Given the description of an element on the screen output the (x, y) to click on. 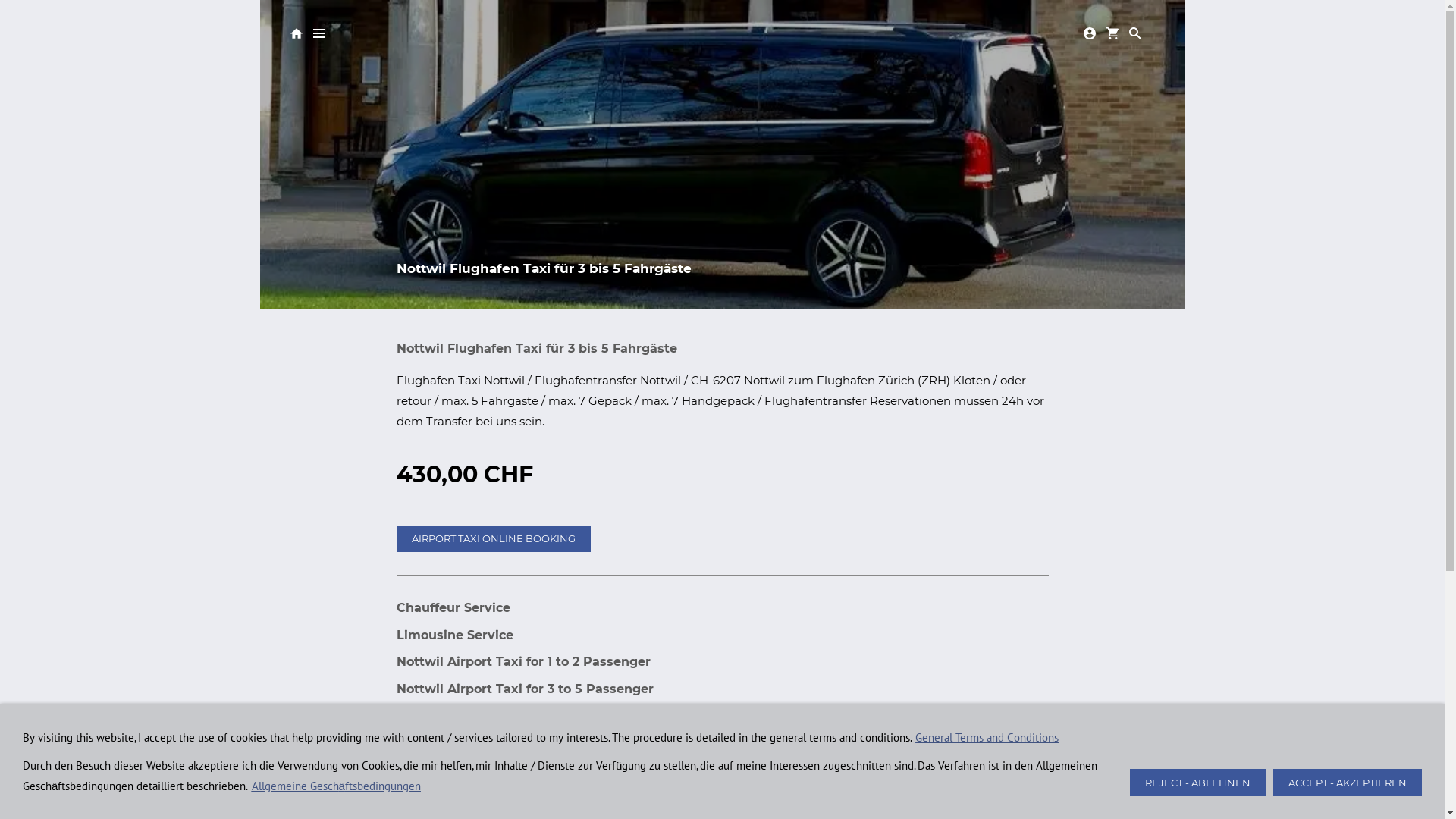
General Terms and Conditions Element type: text (986, 737)
Limousine Service Element type: text (453, 634)
Chauffeur Service Element type: text (452, 607)
Nottwil Airport Taxi for 3 to 5 Passenger Element type: text (523, 688)
Nottwil Airport Taxi for 1 to 2 Passenger Element type: text (522, 661)
REJECT - ABLEHNEN Element type: text (1197, 782)
AIRPORT TAXI ONLINE BOOKING Element type: text (492, 538)
ACCEPT - AKZEPTIEREN Element type: text (1347, 782)
